Given the description of an element on the screen output the (x, y) to click on. 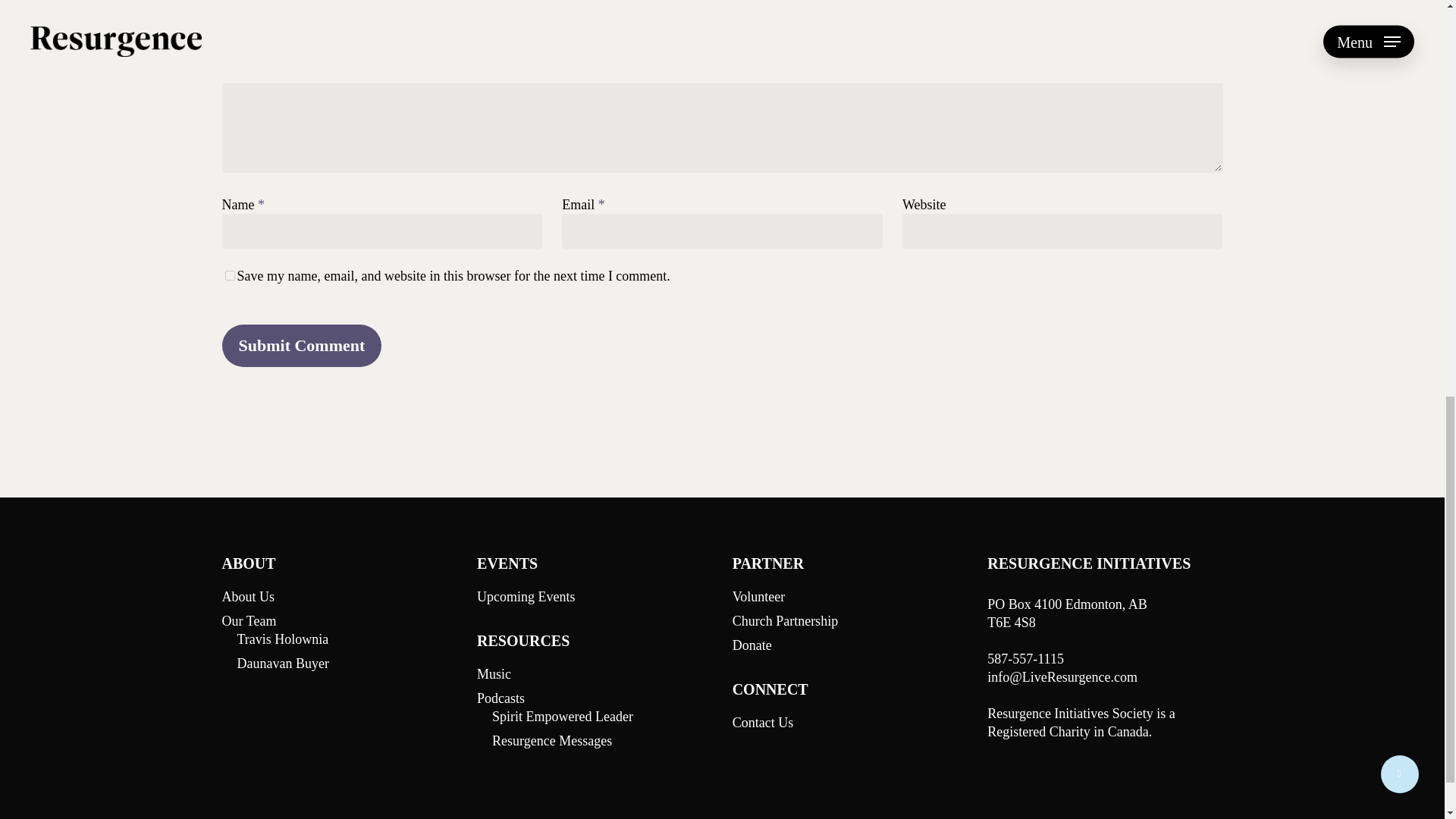
Travis Holownia (346, 638)
Music (594, 674)
Our Team (339, 620)
Donate (850, 645)
Podcasts (594, 698)
Church Partnership (850, 620)
Daunavan Buyer (346, 663)
yes (229, 275)
Volunteer (850, 597)
Contact Us (850, 722)
